Given the description of an element on the screen output the (x, y) to click on. 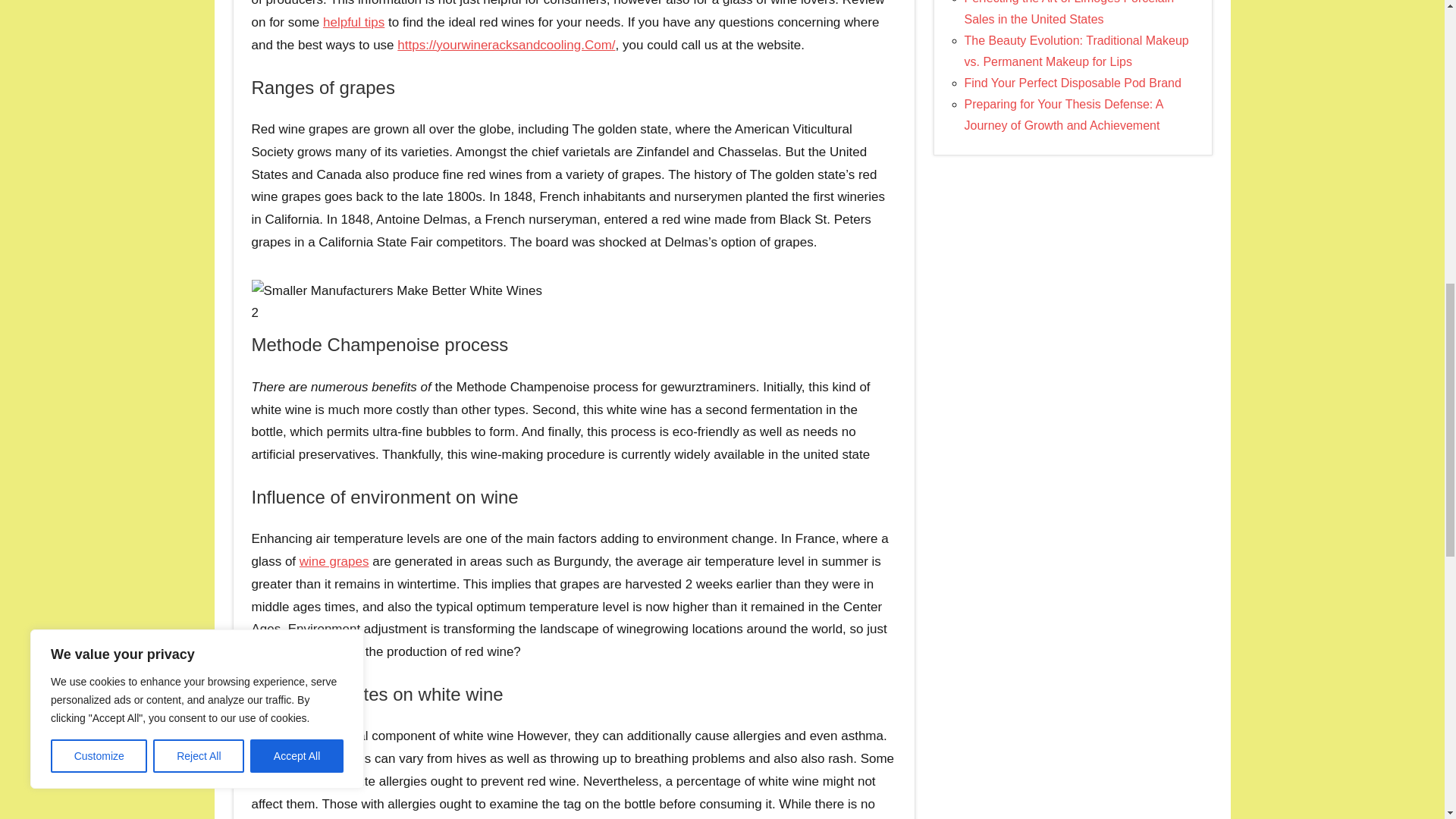
helpful tips (353, 22)
wine grapes (334, 561)
